Given the description of an element on the screen output the (x, y) to click on. 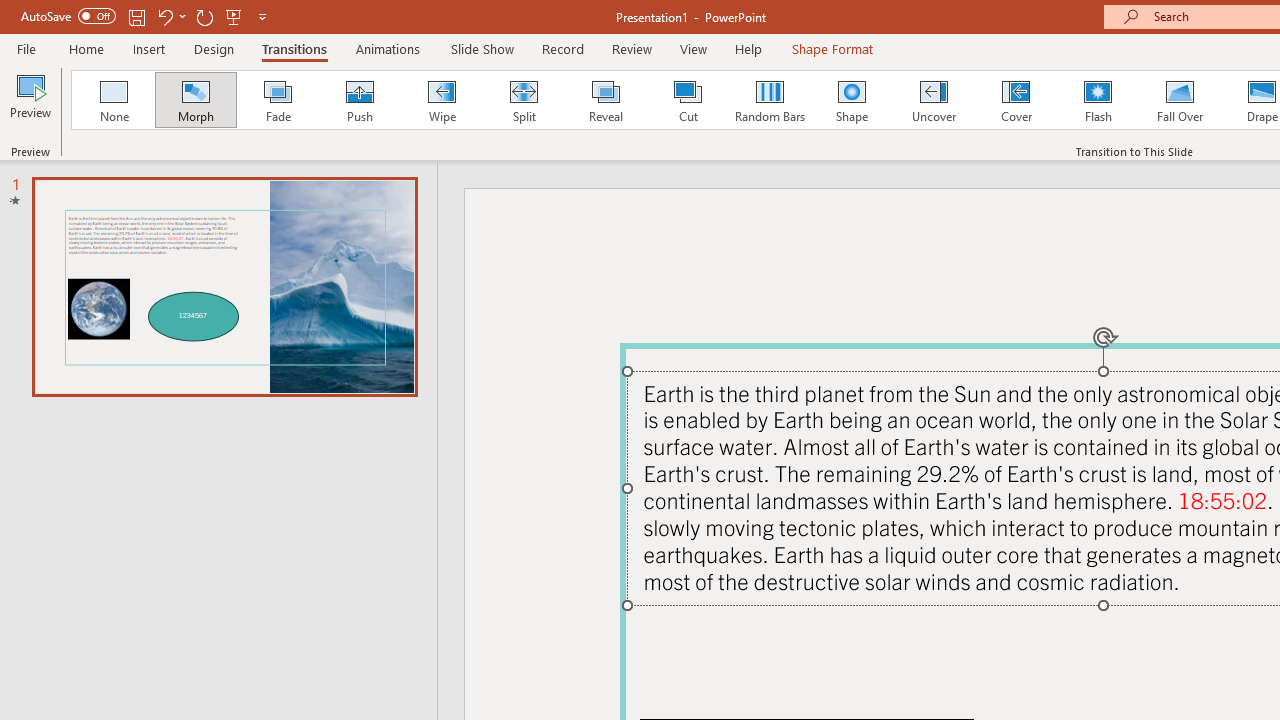
Morph (195, 100)
Fall Over (1180, 100)
Uncover (934, 100)
Reveal (605, 100)
